Given the description of an element on the screen output the (x, y) to click on. 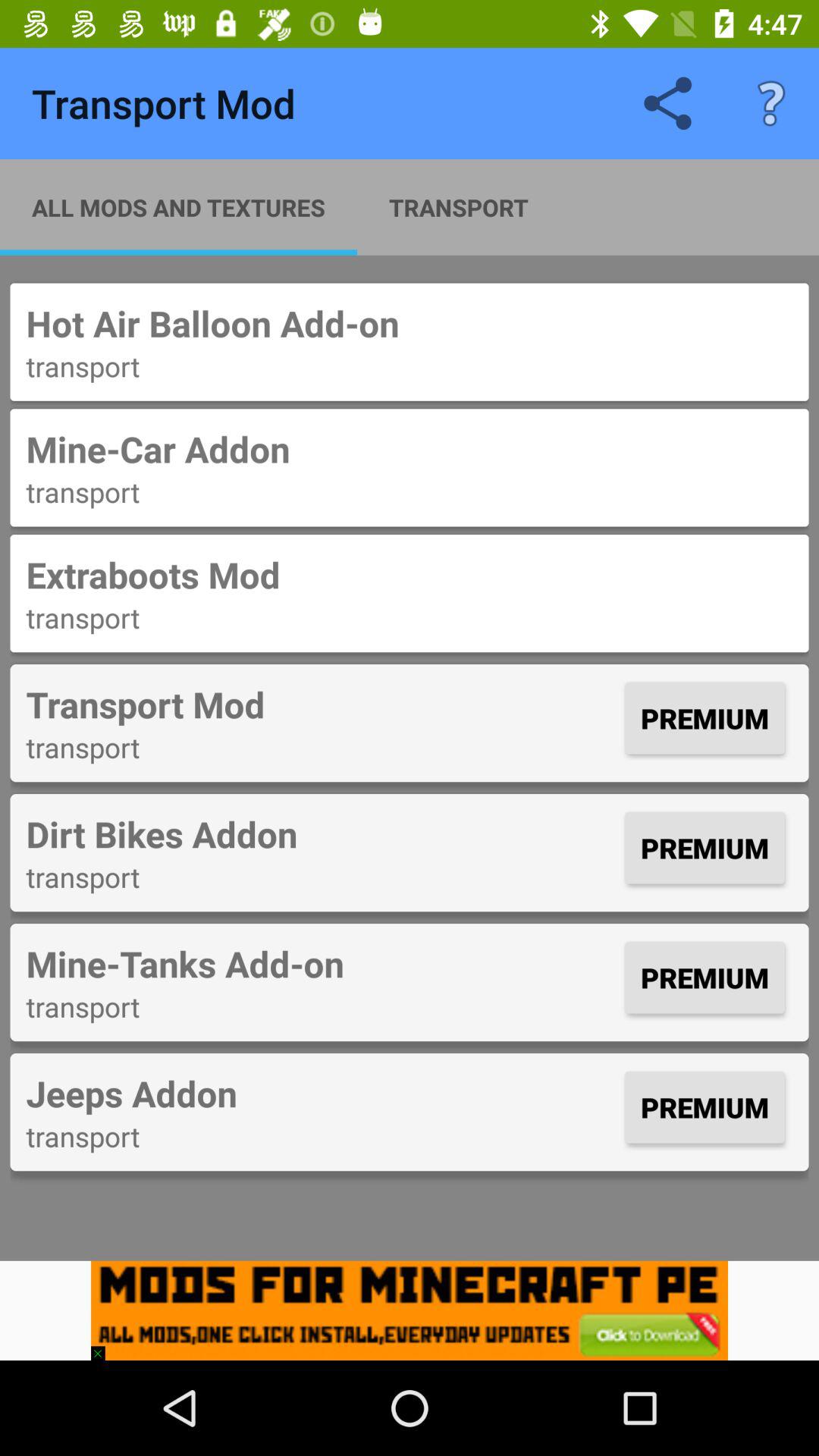
press jeeps addon (321, 1093)
